Given the description of an element on the screen output the (x, y) to click on. 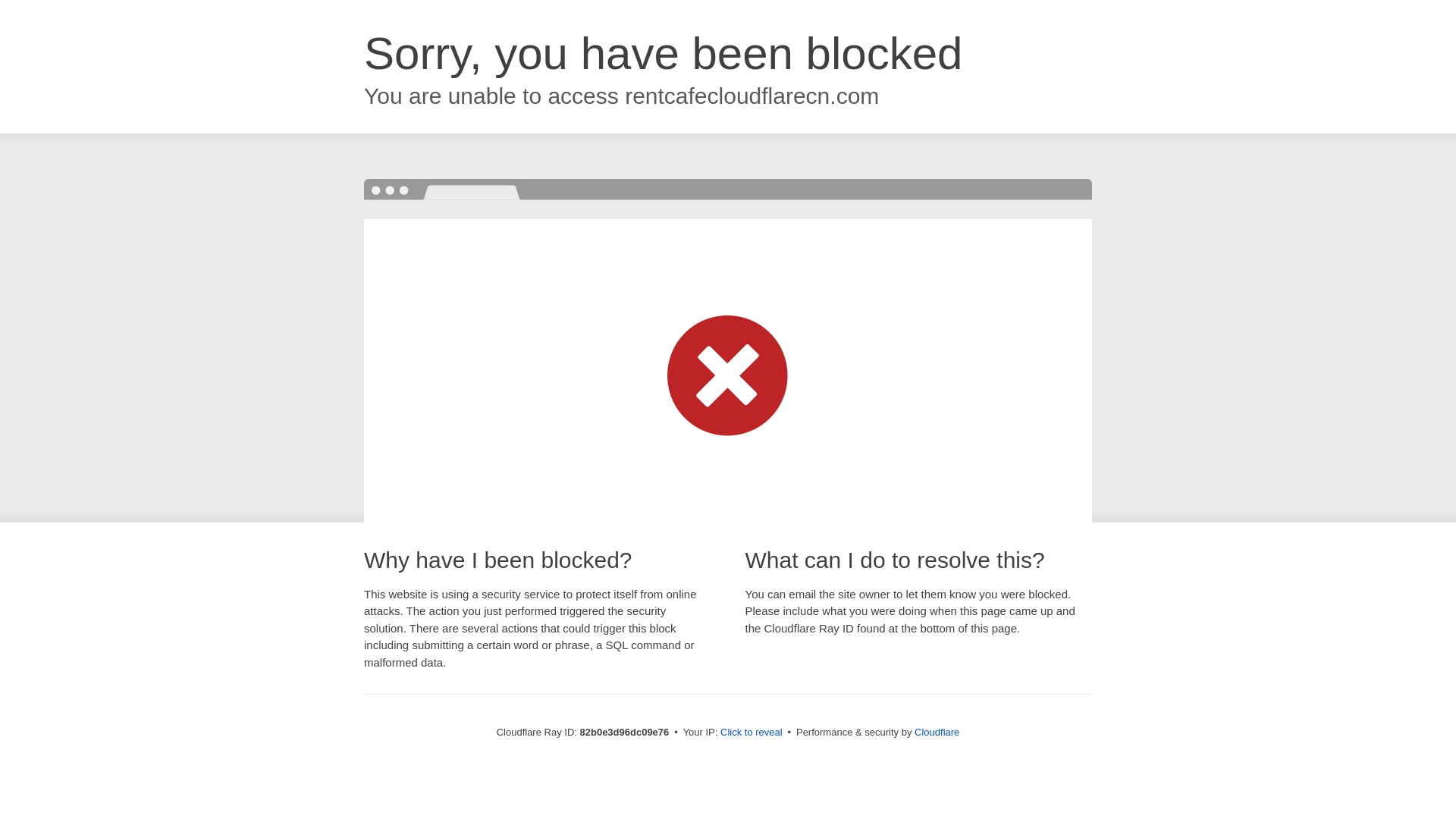
Cloudflare Element type: text (936, 731)
Click to reveal Element type: text (751, 732)
